Given the description of an element on the screen output the (x, y) to click on. 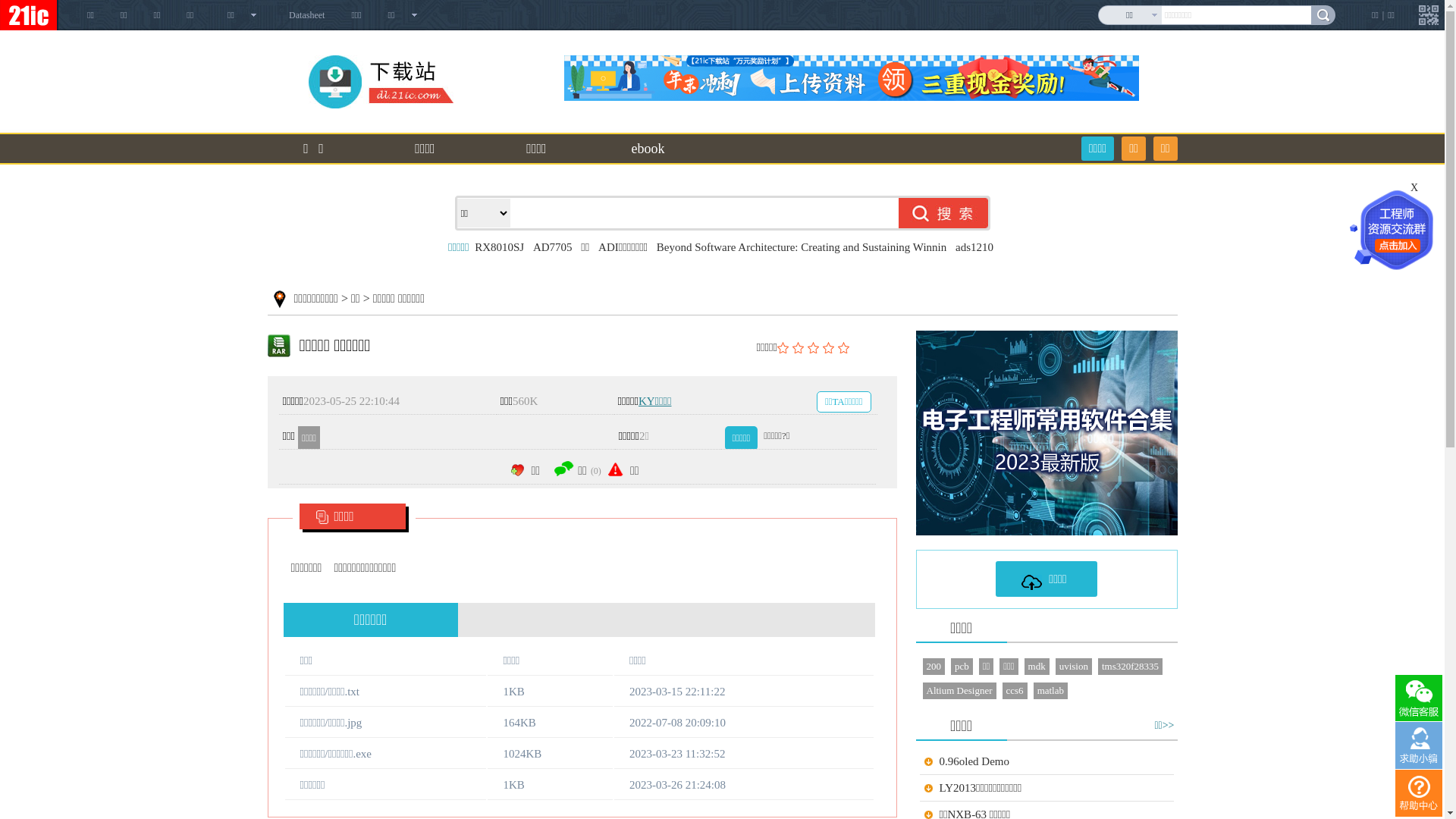
X   Element type: text (1416, 188)
AD7705 Element type: text (552, 247)
uvision Element type: text (1073, 666)
pcb Element type: text (961, 666)
Altium Designer Element type: text (958, 690)
Datasheet Element type: text (306, 14)
Beyond Software Architecture: Creating and Sustaining Winnin Element type: text (801, 247)
200 Element type: text (933, 666)
ccs6 Element type: text (1014, 690)
tms320f28335 Element type: text (1130, 666)
ads1210 Element type: text (974, 247)
matlab Element type: text (1050, 690)
mdk Element type: text (1036, 666)
ebook Element type: text (648, 148)
RX8010SJ Element type: text (499, 247)
0.96oled Demo Element type: text (973, 761)
